Given the description of an element on the screen output the (x, y) to click on. 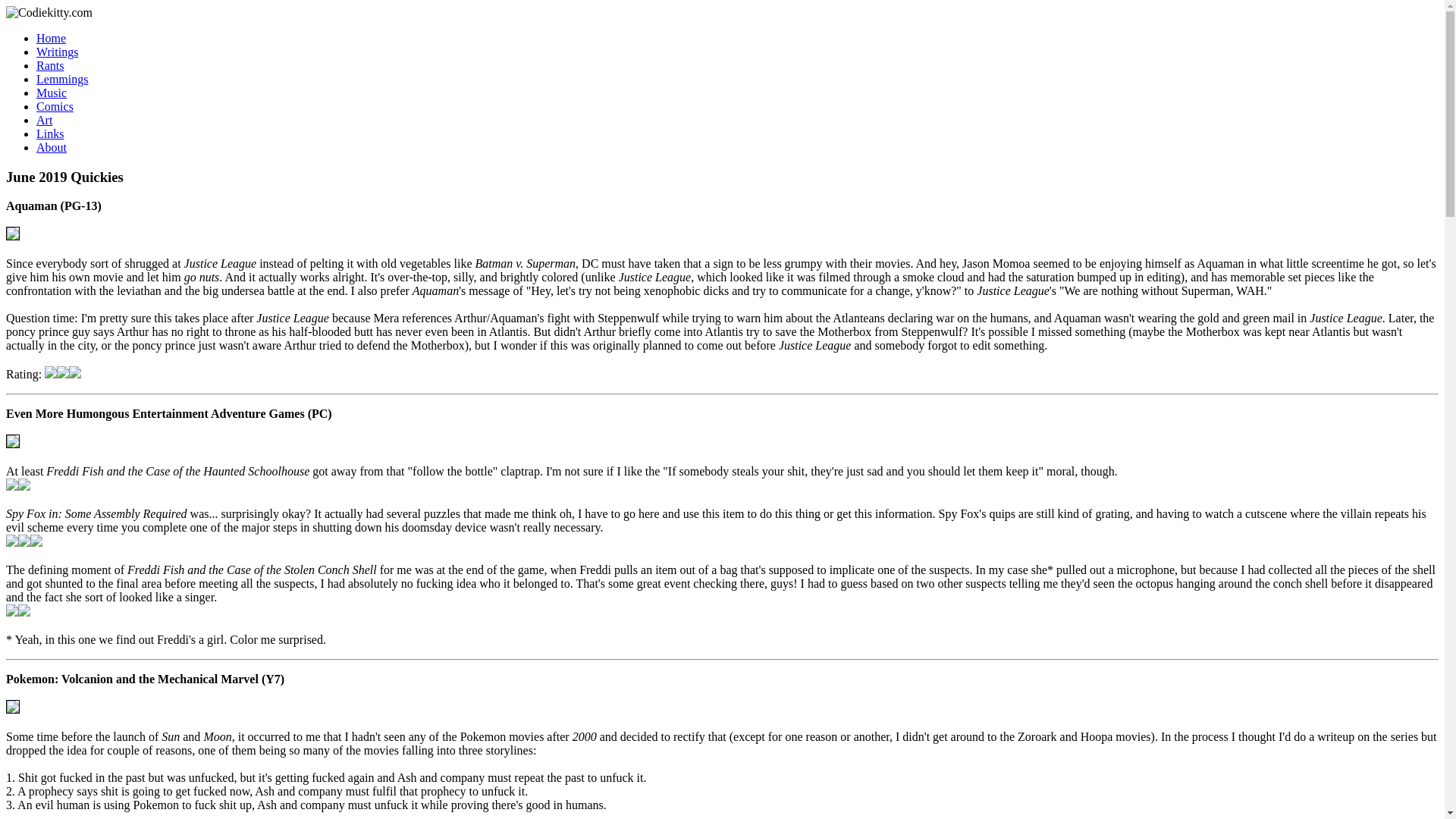
About (51, 146)
Music (51, 92)
Lemmings (61, 78)
Comics (55, 106)
Rants (50, 65)
Art (44, 119)
Writings (57, 51)
Home (50, 38)
Links (50, 133)
